Given the description of an element on the screen output the (x, y) to click on. 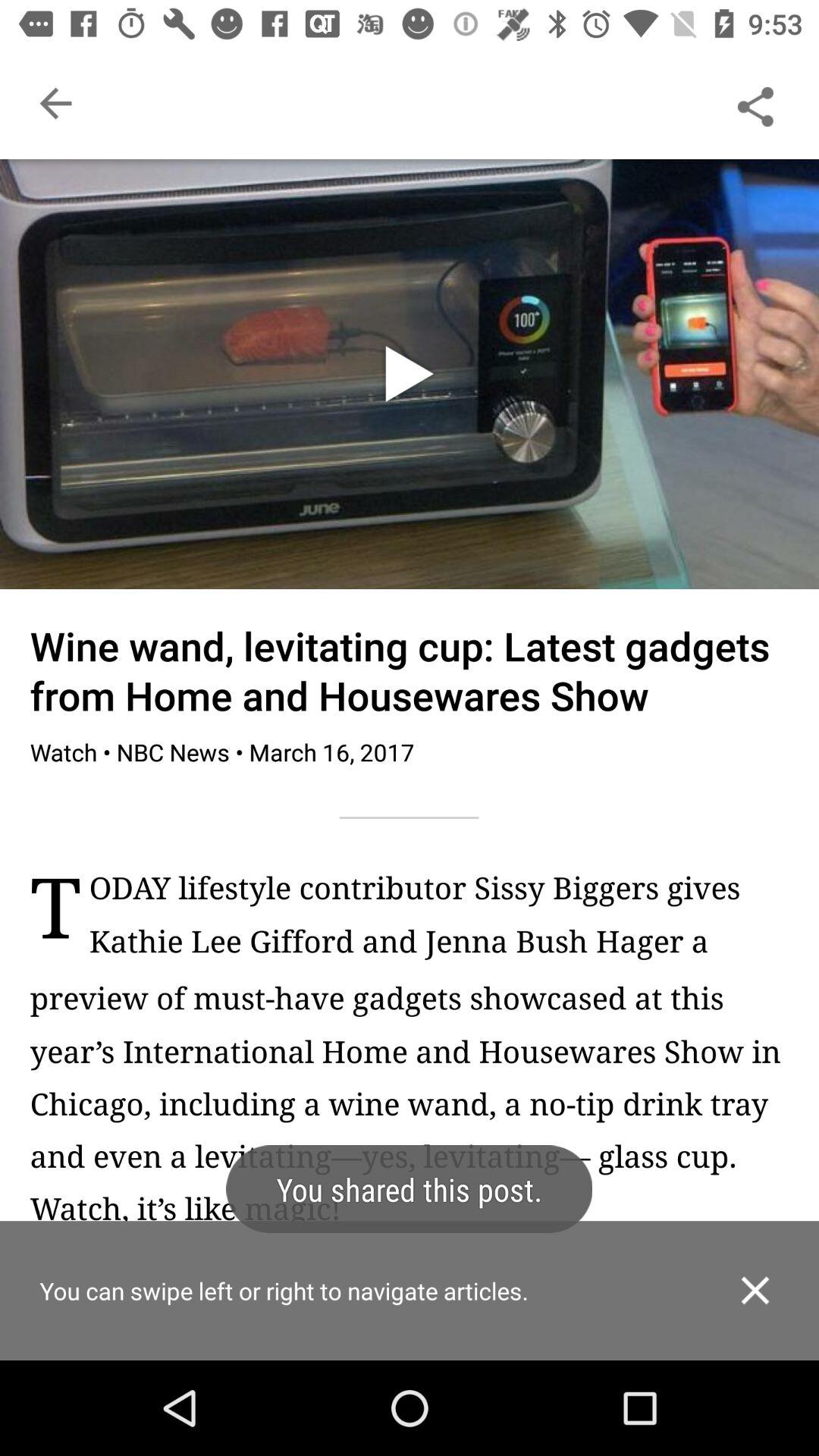
click on close icon at bottom of page (755, 1290)
take the play icon from the image (409, 373)
select the text which is in last post (438, 921)
select the share option from top right (755, 103)
